Given the description of an element on the screen output the (x, y) to click on. 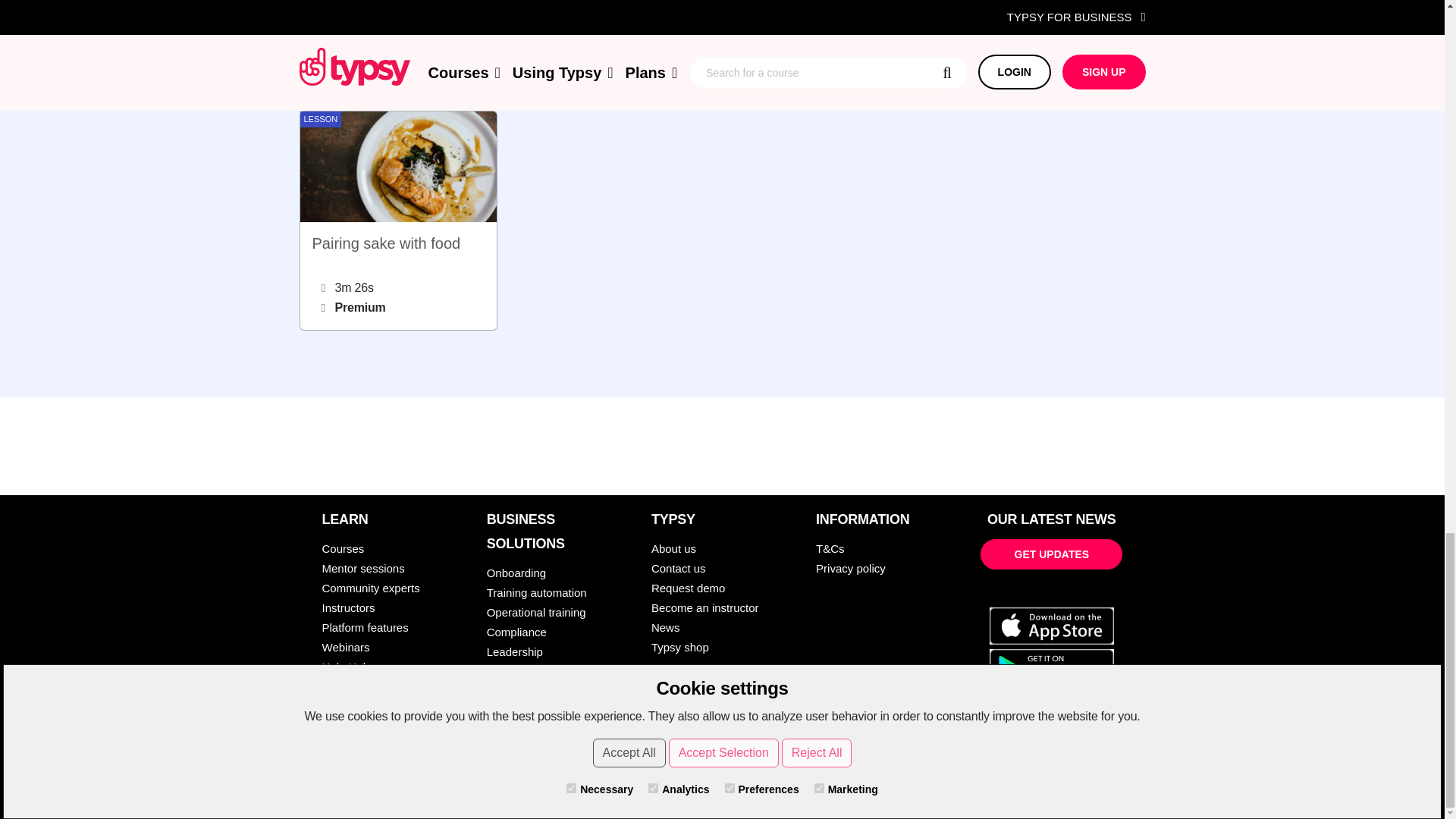
The length of the lesson in hours, minutes and seconds. (539, 50)
The length of the lesson in hours, minutes and seconds. (755, 50)
The sake brewing process (1046, 46)
Understanding sake classifications (614, 46)
The length of the lesson in hours, minutes and seconds. (322, 288)
Sake ingredients (829, 46)
Pairing sake with food (397, 220)
What is sake? (397, 46)
The length of the lesson in hours, minutes and seconds. (971, 50)
The length of the lesson in hours, minutes and seconds. (322, 50)
